Given the description of an element on the screen output the (x, y) to click on. 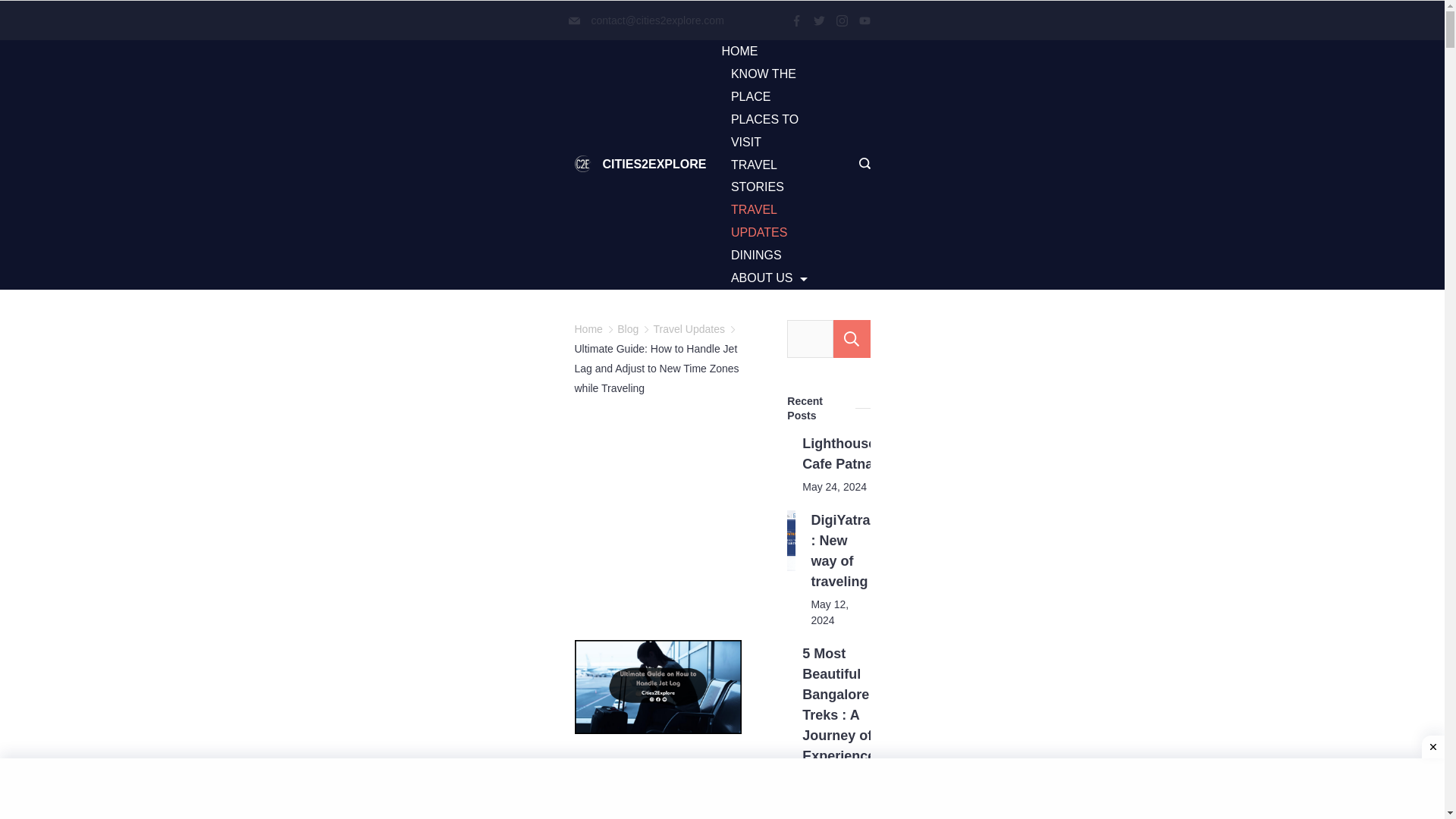
DININGS (755, 255)
HOME (743, 51)
TRAVEL STORIES (774, 176)
KNOW THE PLACE (774, 85)
PLACES TO VISIT (774, 130)
ABOUT US (764, 277)
TRAVEL UPDATES (774, 221)
CITIES2EXPLORE (654, 164)
Advertisement (871, 527)
